Given the description of an element on the screen output the (x, y) to click on. 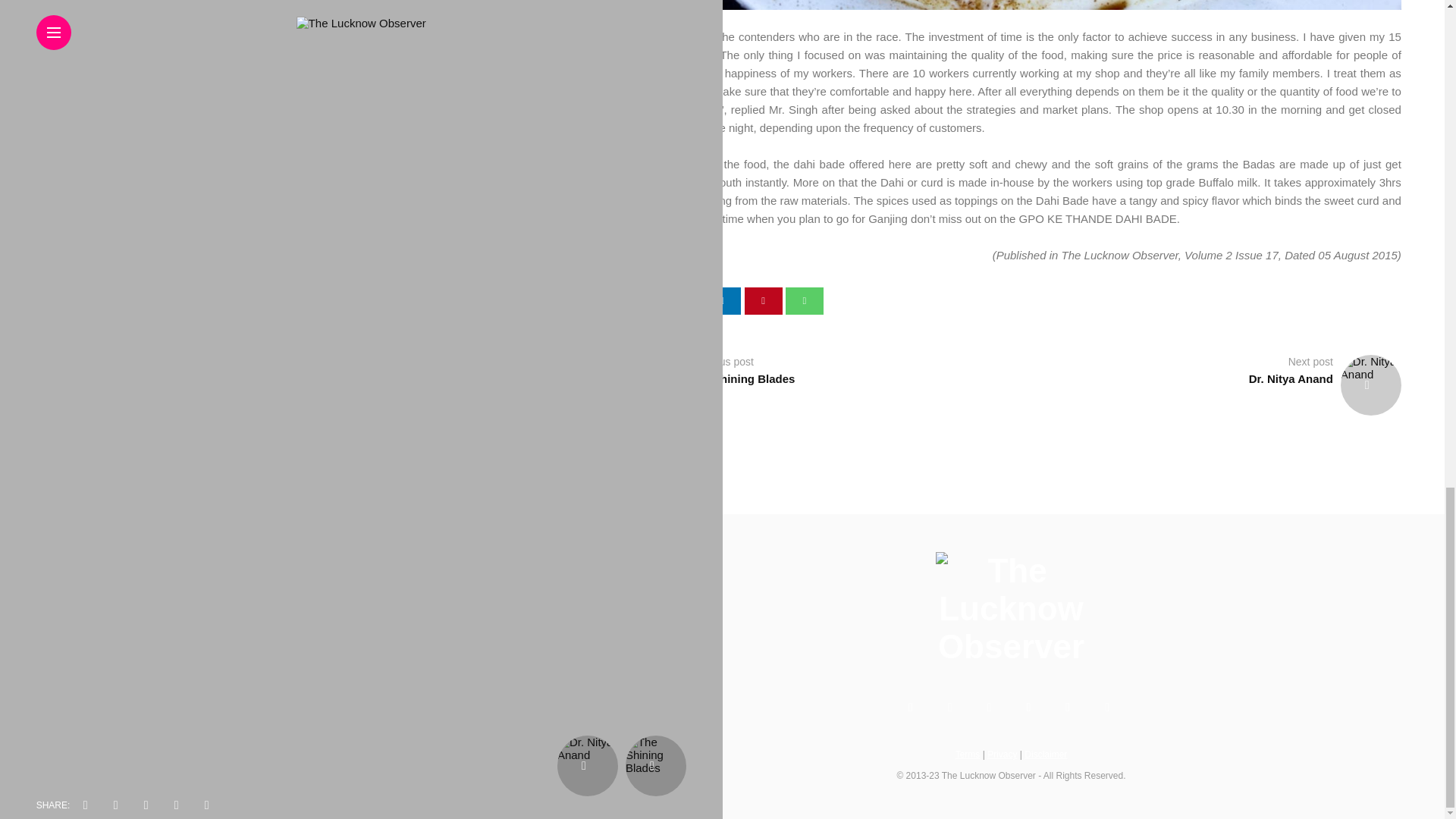
twitter (681, 300)
pinterest (763, 300)
facebook (640, 300)
